Given the description of an element on the screen output the (x, y) to click on. 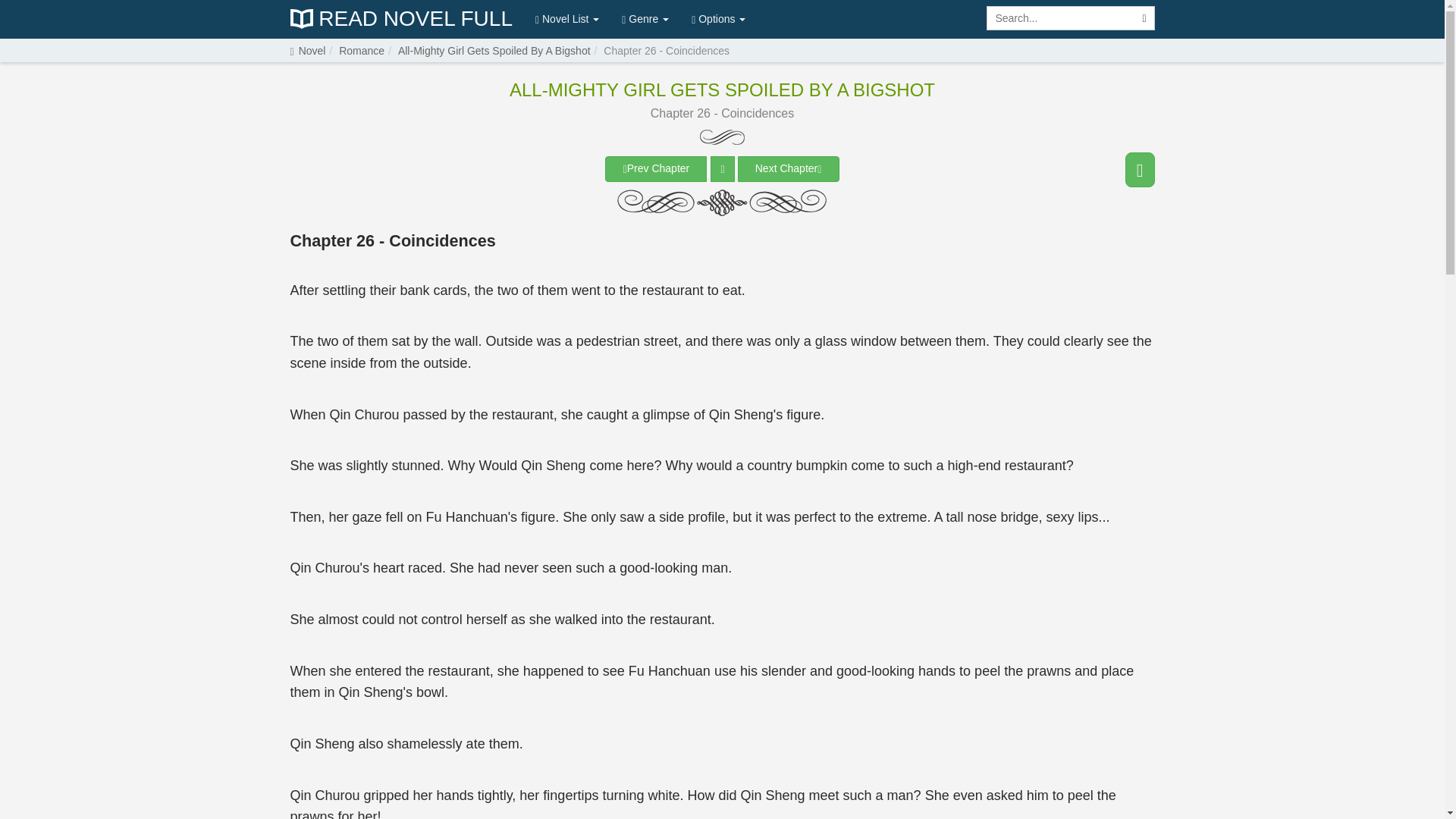
Novel List (567, 18)
Genre (644, 18)
READ NOVEL FULL (400, 19)
Read Novel Full (400, 19)
